Given the description of an element on the screen output the (x, y) to click on. 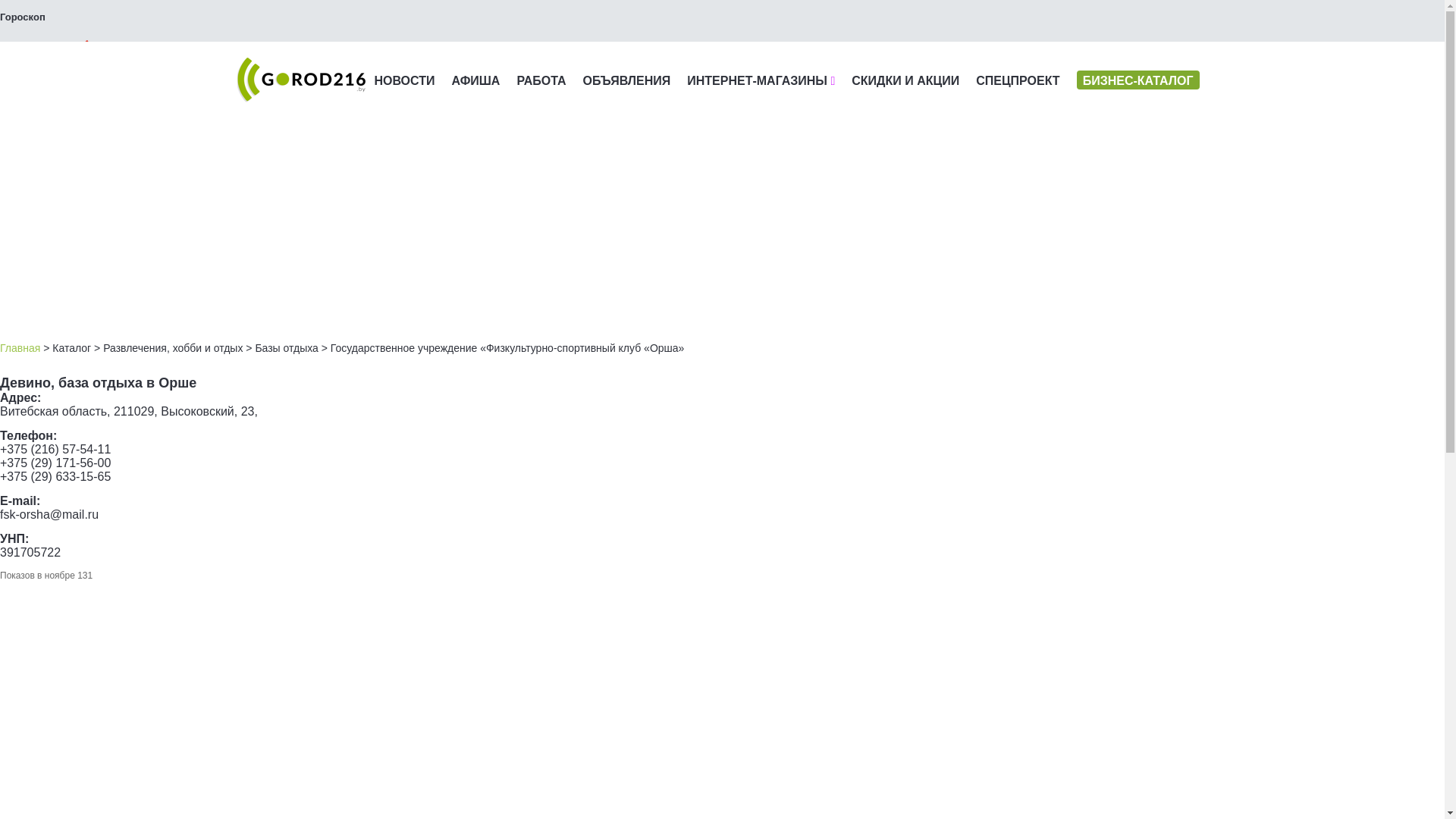
   Element type: text (49, 50)
+375 (216) 57-54-11 Element type: text (55, 448)
fsk-orsha@mail.ru Element type: text (49, 514)
